Given the description of an element on the screen output the (x, y) to click on. 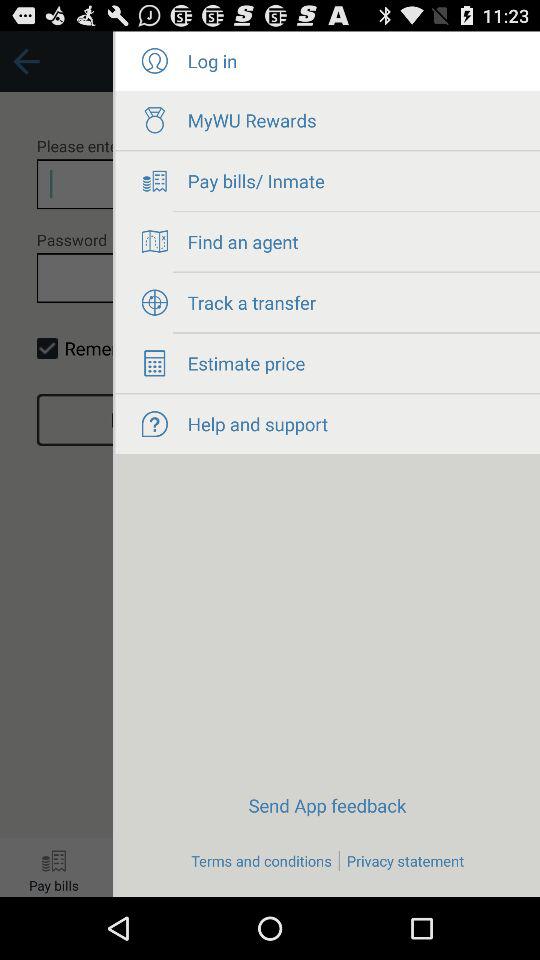
log in (154, 61)
